Given the description of an element on the screen output the (x, y) to click on. 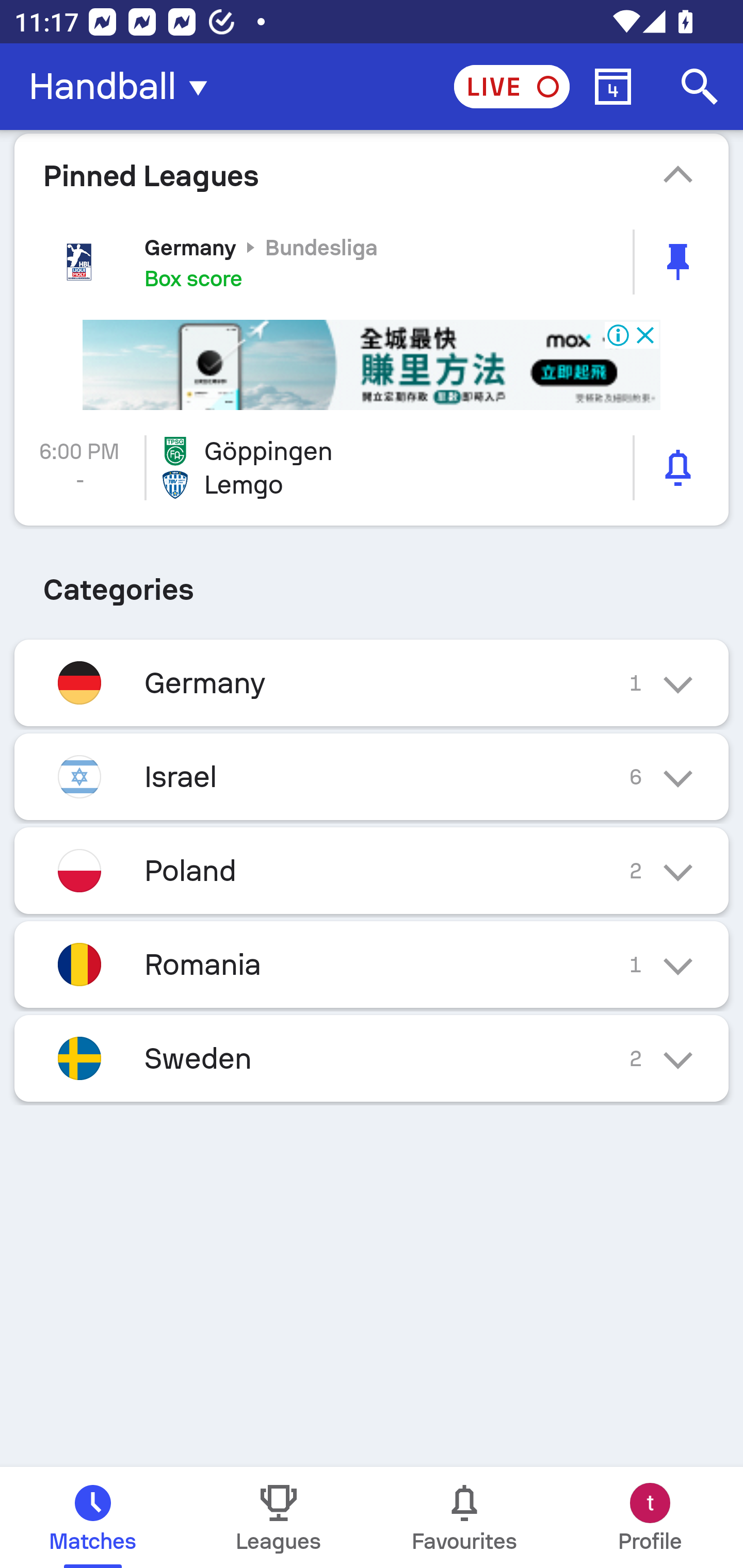
Handball (124, 86)
Calendar (612, 86)
Search (699, 86)
Pinned Leagues (371, 175)
Germany Bundesliga Box score (371, 261)
Advertisement (371, 364)
6:00 PM - Göppingen Lemgo (371, 467)
Categories (371, 582)
Germany 1 (371, 682)
Israel 6 (371, 776)
Poland 2 (371, 870)
Romania 1 (371, 964)
Sweden 2 (371, 1058)
Leagues (278, 1517)
Favourites (464, 1517)
Profile (650, 1517)
